Given the description of an element on the screen output the (x, y) to click on. 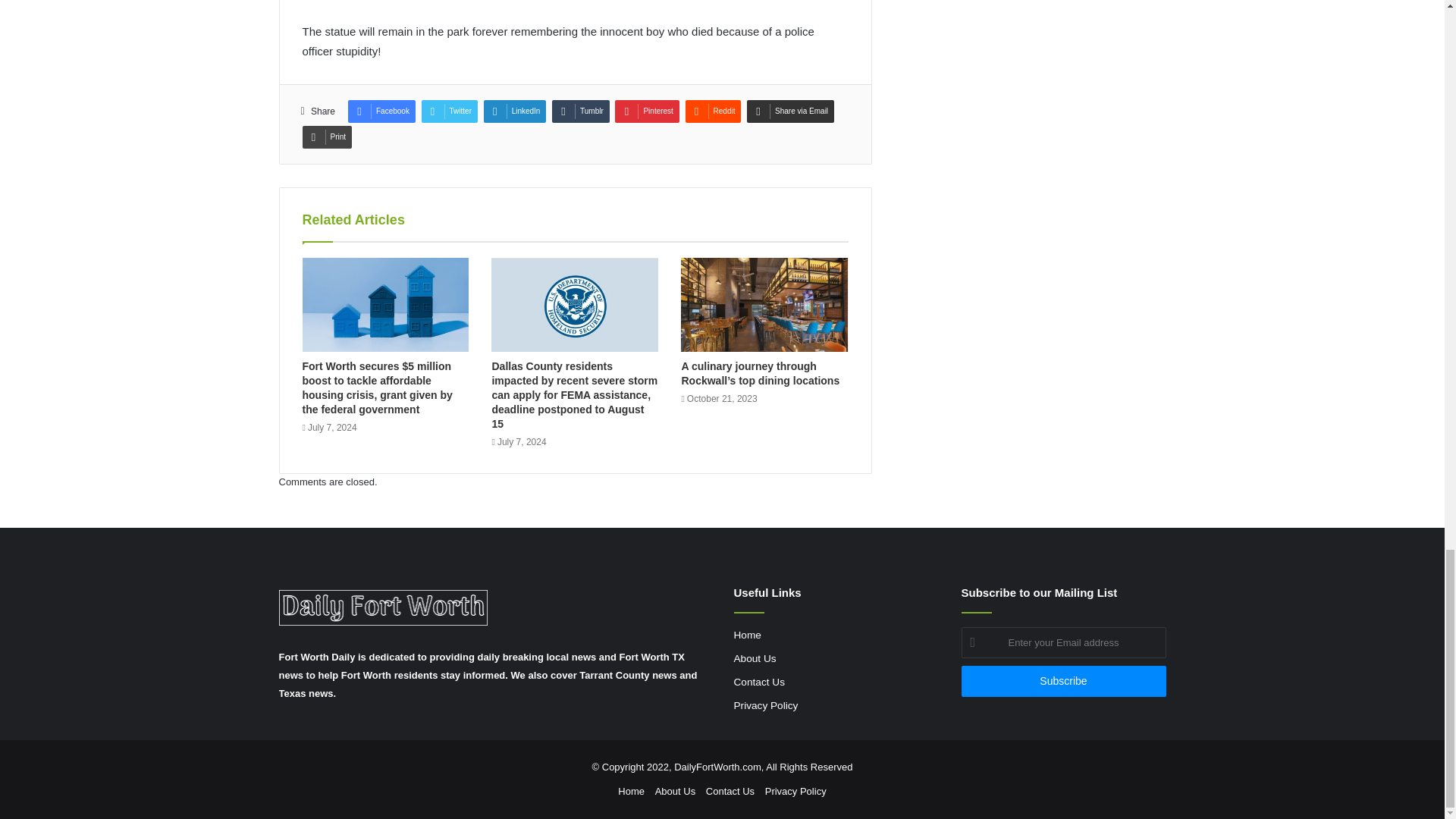
Print (326, 137)
Share via Email (790, 110)
Reddit (713, 110)
Subscribe (1063, 680)
LinkedIn (515, 110)
Facebook (380, 110)
Tumblr (580, 110)
Pinterest (646, 110)
Twitter (449, 110)
